Given the description of an element on the screen output the (x, y) to click on. 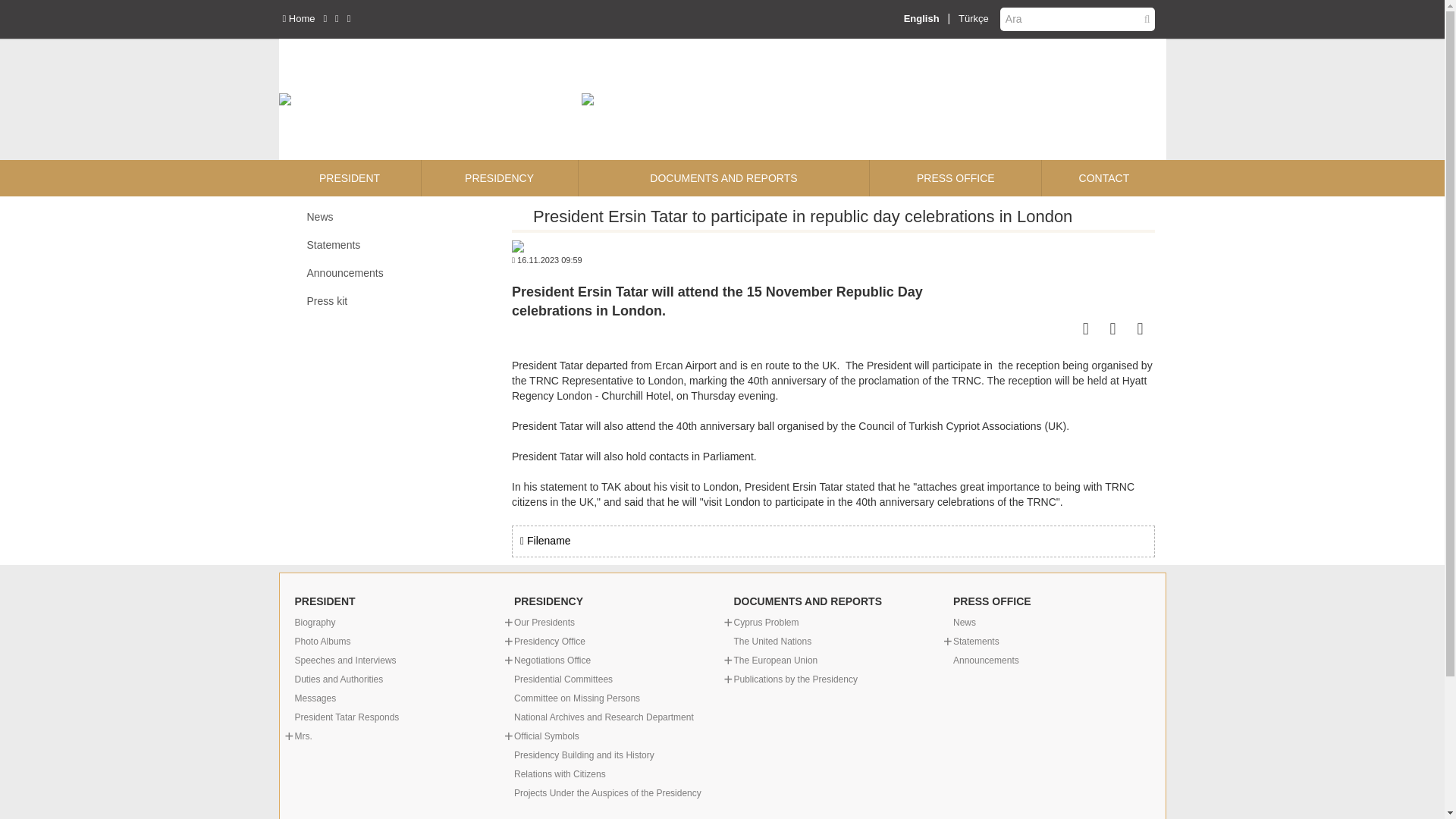
Home (298, 18)
PRESIDENT (350, 177)
English (921, 18)
PRESIDENCY (500, 177)
